Given the description of an element on the screen output the (x, y) to click on. 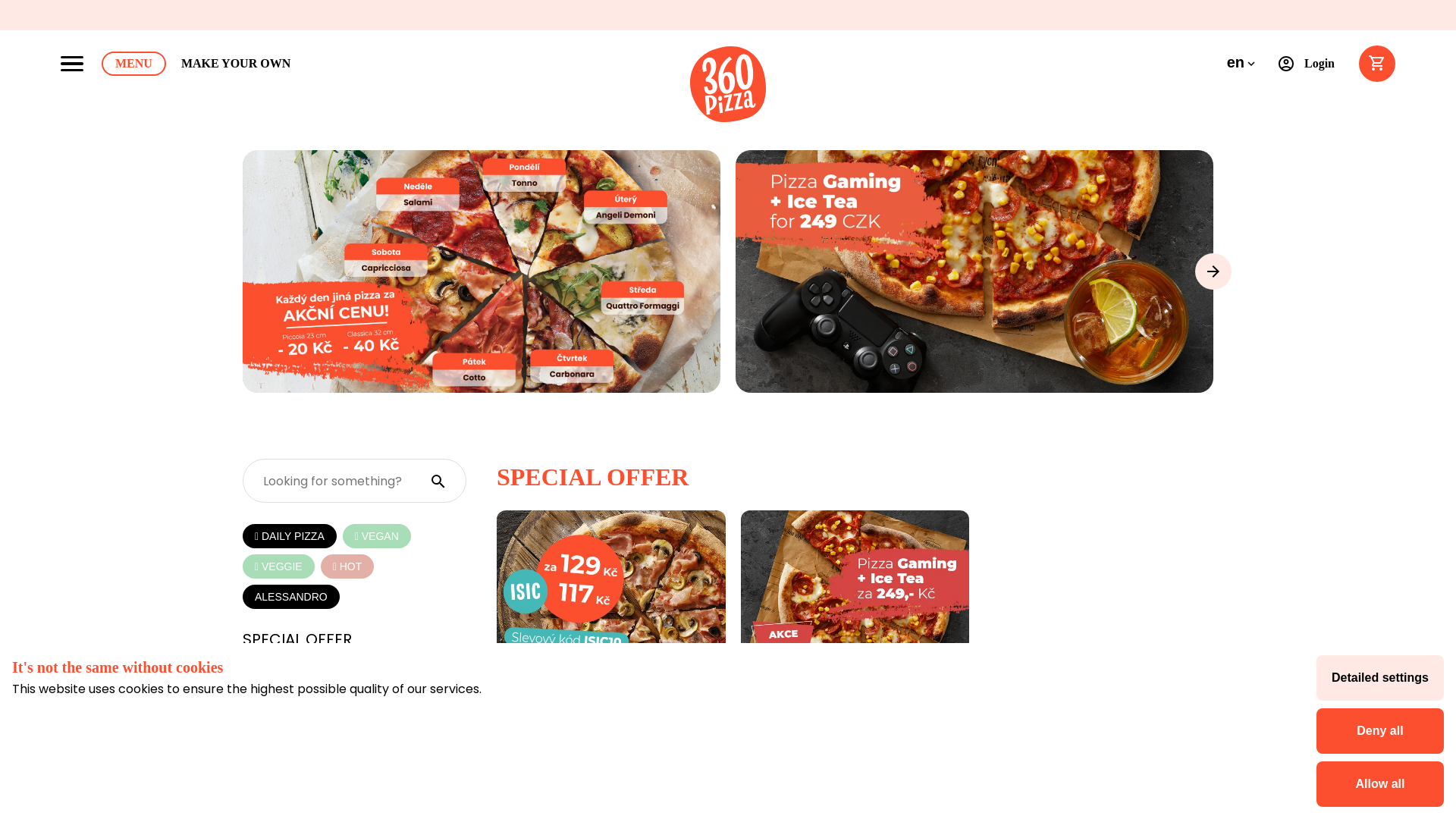
MAKE YOUR OWN Element type: text (235, 63)
Allow all Element type: text (1379, 783)
SPECIAL OFFER Element type: text (296, 639)
ALESSANDRO Element type: text (290, 596)
en Element type: text (1241, 63)
DOUGH Element type: text (270, 696)
BESTSELLERS Element type: text (288, 667)
Detailed settings Element type: text (1379, 677)
GRILL & PASTA Element type: text (294, 783)
Login Element type: text (1309, 63)
MENU Element type: text (133, 63)
PUCCIA Element type: text (270, 725)
PIZZA SNACK Element type: text (289, 754)
Deny all Element type: text (1379, 730)
